Given the description of an element on the screen output the (x, y) to click on. 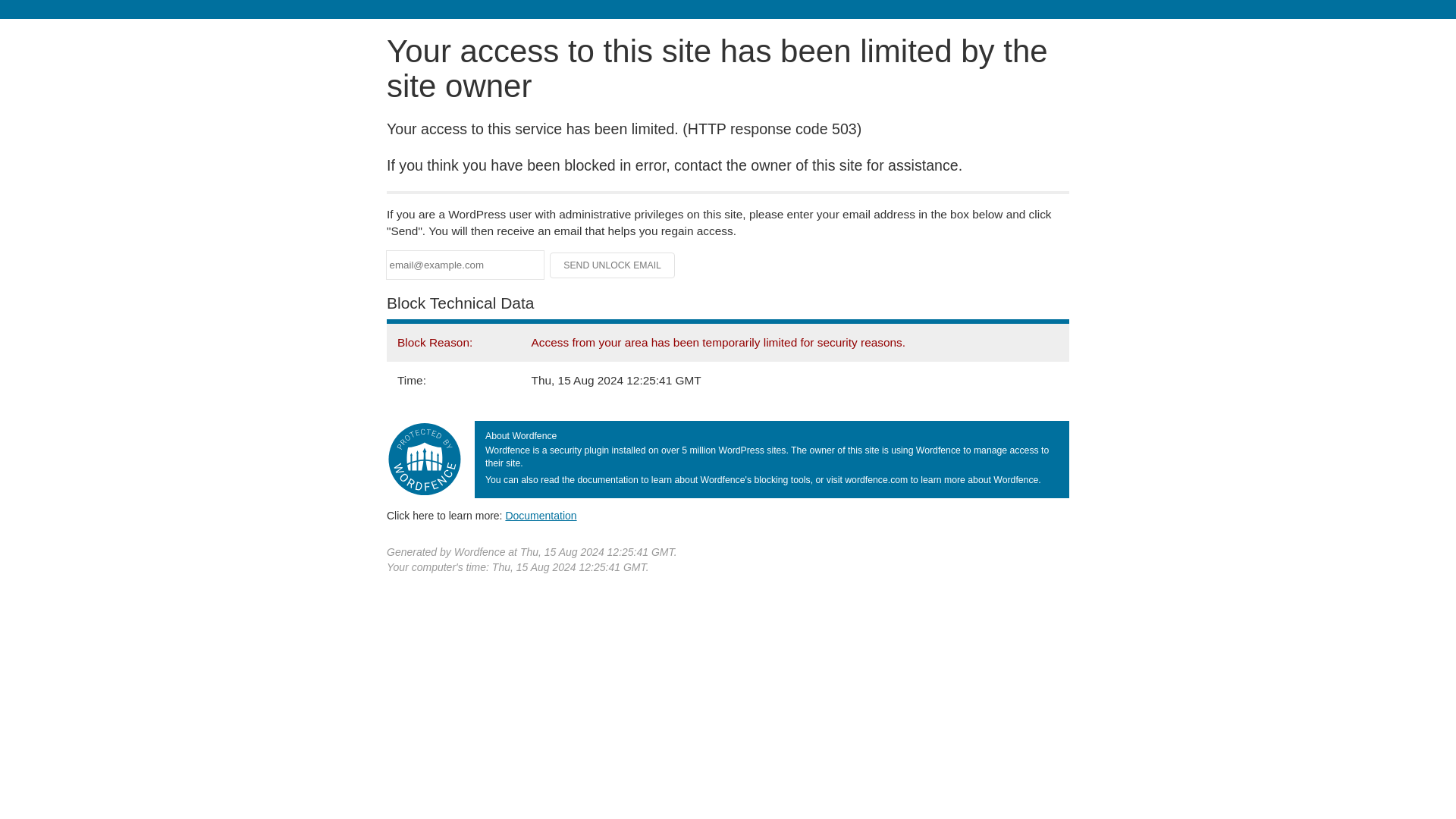
Send Unlock Email (612, 265)
Documentation (540, 515)
Send Unlock Email (612, 265)
